Given the description of an element on the screen output the (x, y) to click on. 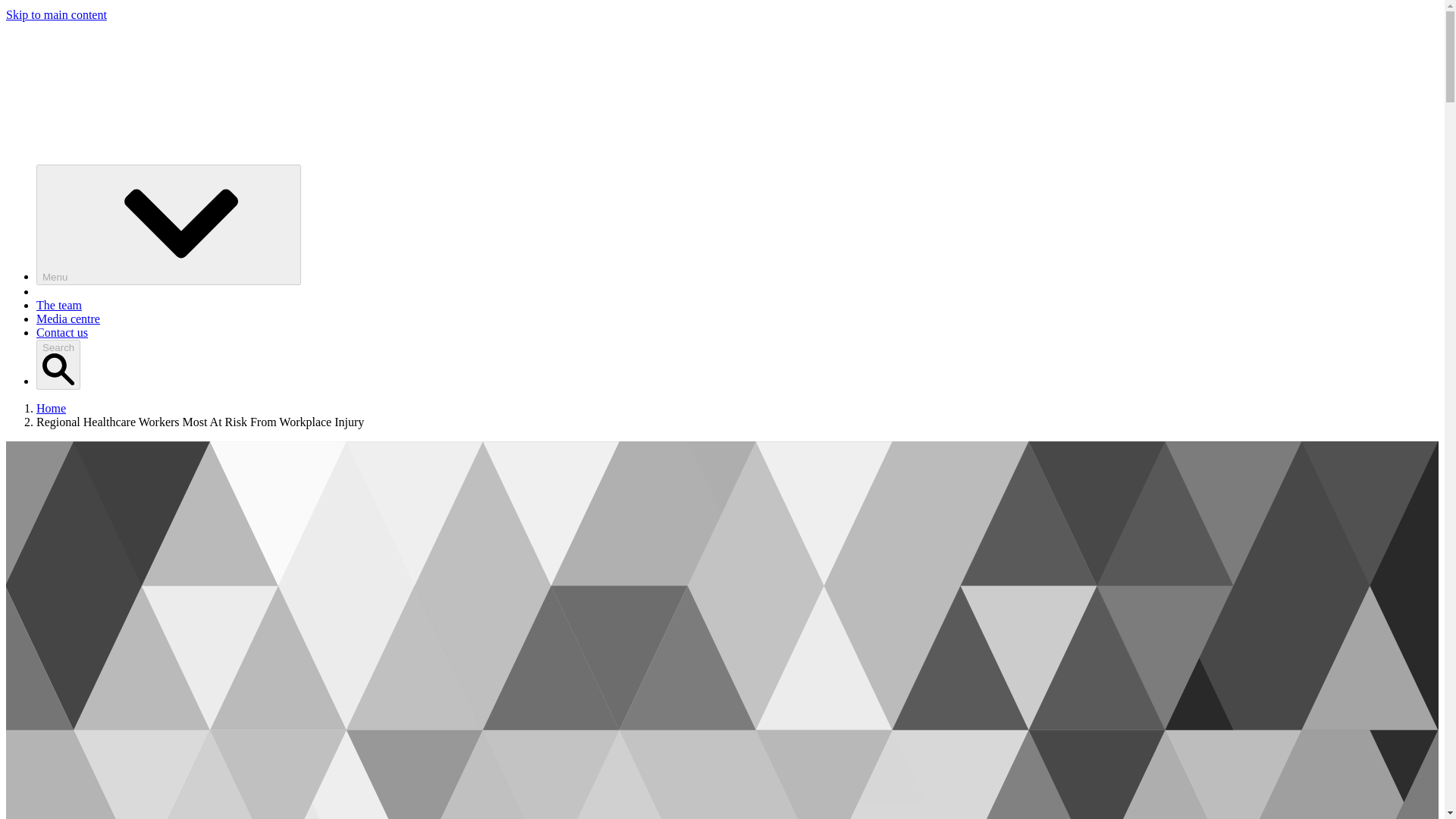
Media centre (68, 318)
Contact us (61, 332)
Home (50, 408)
Skip to main content (55, 14)
The team (58, 305)
